Given the description of an element on the screen output the (x, y) to click on. 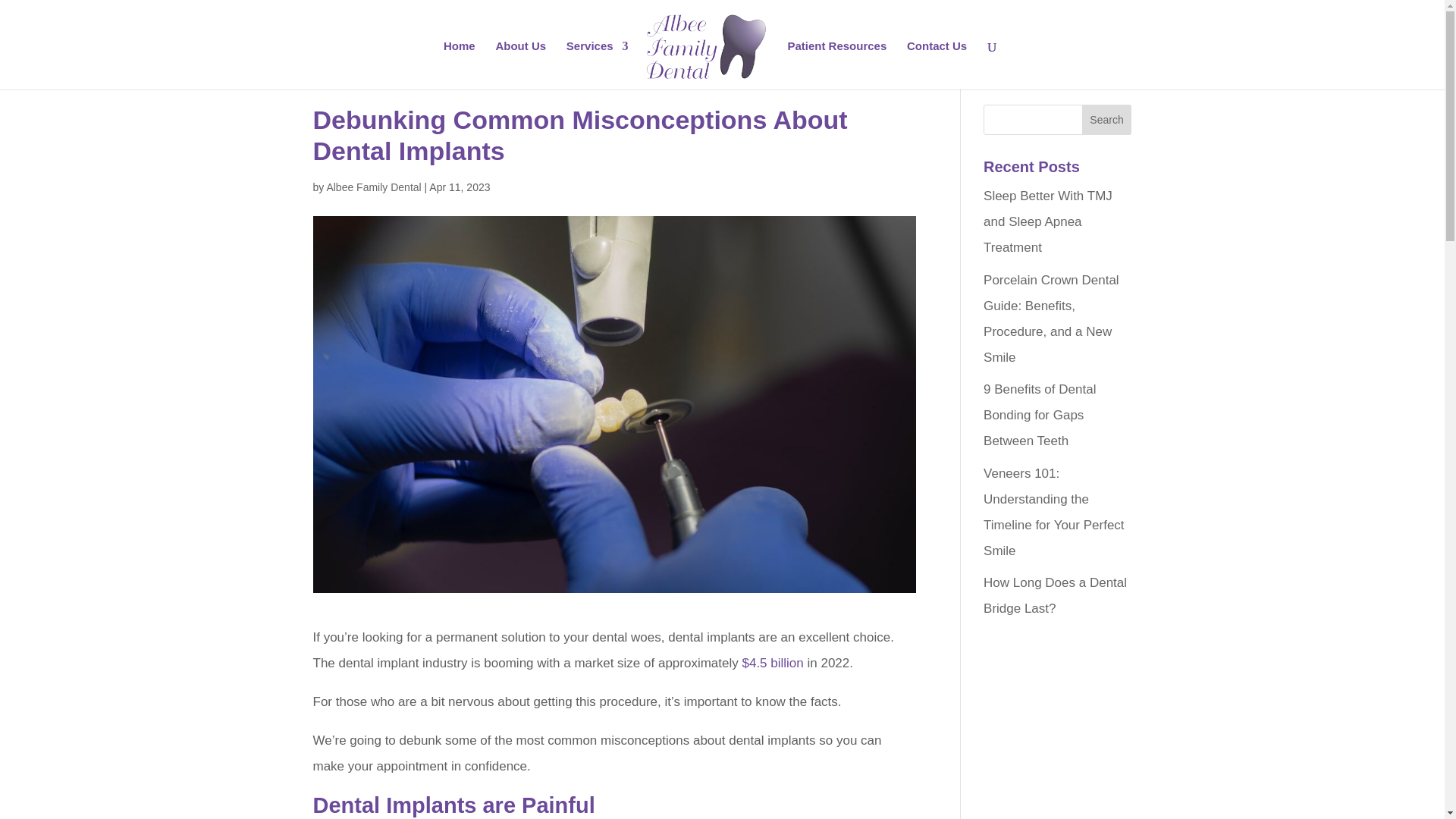
Sleep Better With TMJ and Sleep Apnea Treatment (1048, 221)
Patient Resources (836, 64)
About Us (520, 64)
Services (597, 64)
Albee Family Dental (373, 186)
Search (1106, 119)
Posts by Albee Family Dental (373, 186)
Search (1106, 119)
How Long Does a Dental Bridge Last? (1055, 595)
